Given the description of an element on the screen output the (x, y) to click on. 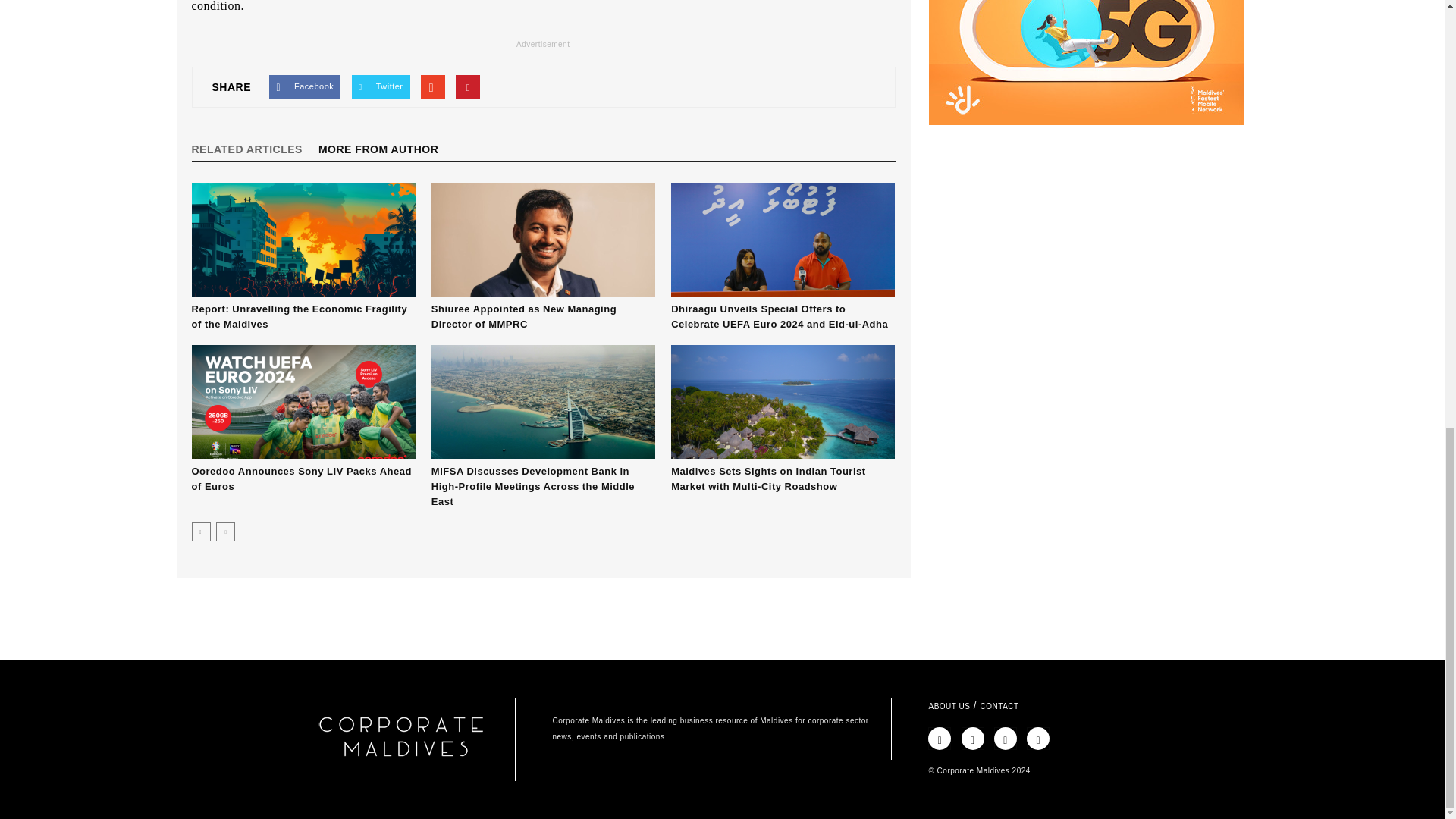
Report: Unravelling the Economic Fragility of the Maldives (298, 316)
Twitter (381, 87)
Report: Unravelling the Economic Fragility of the Maldives (302, 239)
Shiuree Appointed as New Managing Director of MMPRC (522, 316)
Shiuree Appointed as New Managing Director of MMPRC (542, 239)
Ooredoo Announces Sony LIV Packs Ahead of Euros (302, 401)
Ooredoo Announces Sony LIV Packs Ahead of Euros (300, 479)
Facebook (304, 87)
